Given the description of an element on the screen output the (x, y) to click on. 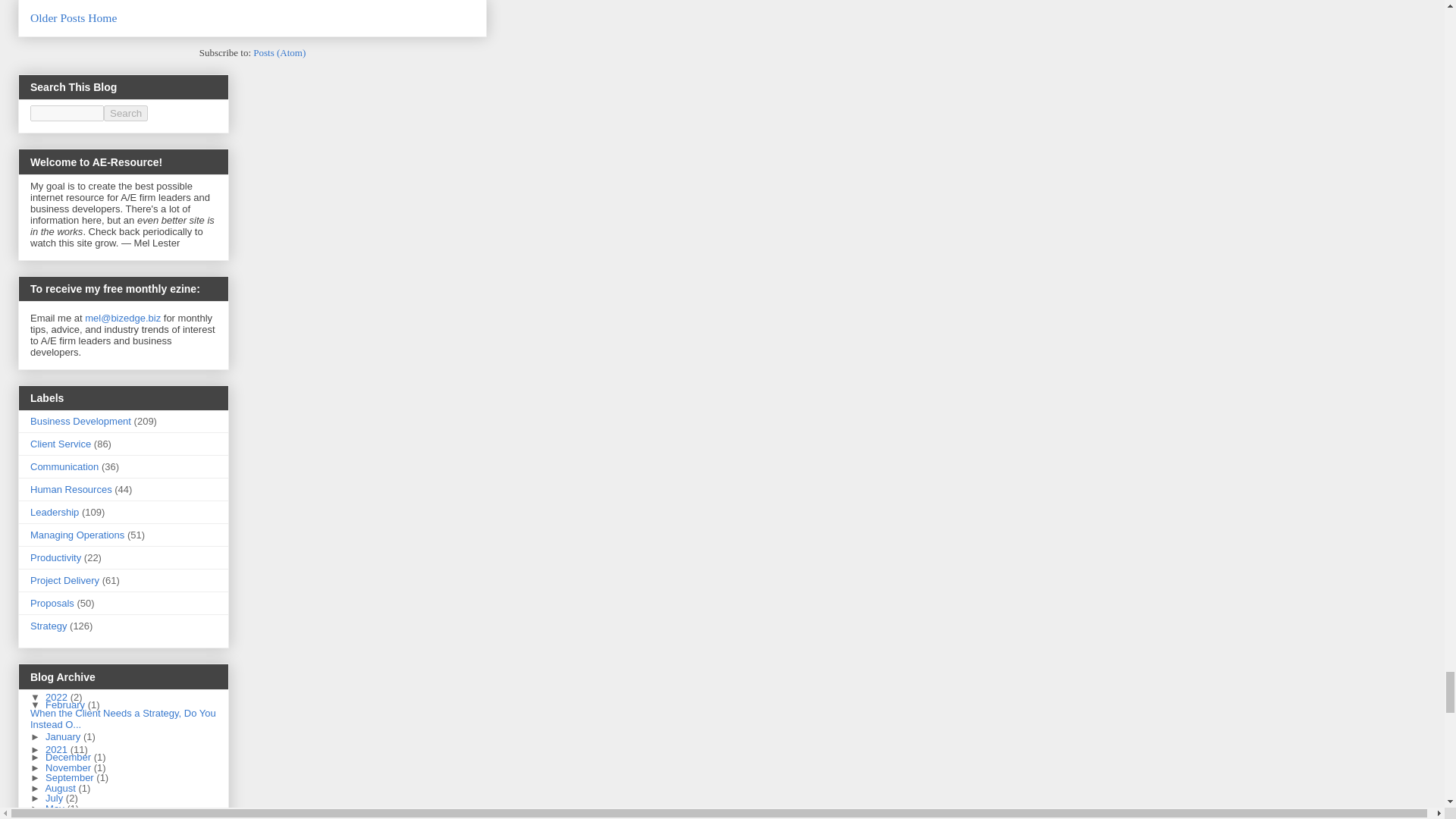
Search (125, 113)
Search (125, 113)
